Given the description of an element on the screen output the (x, y) to click on. 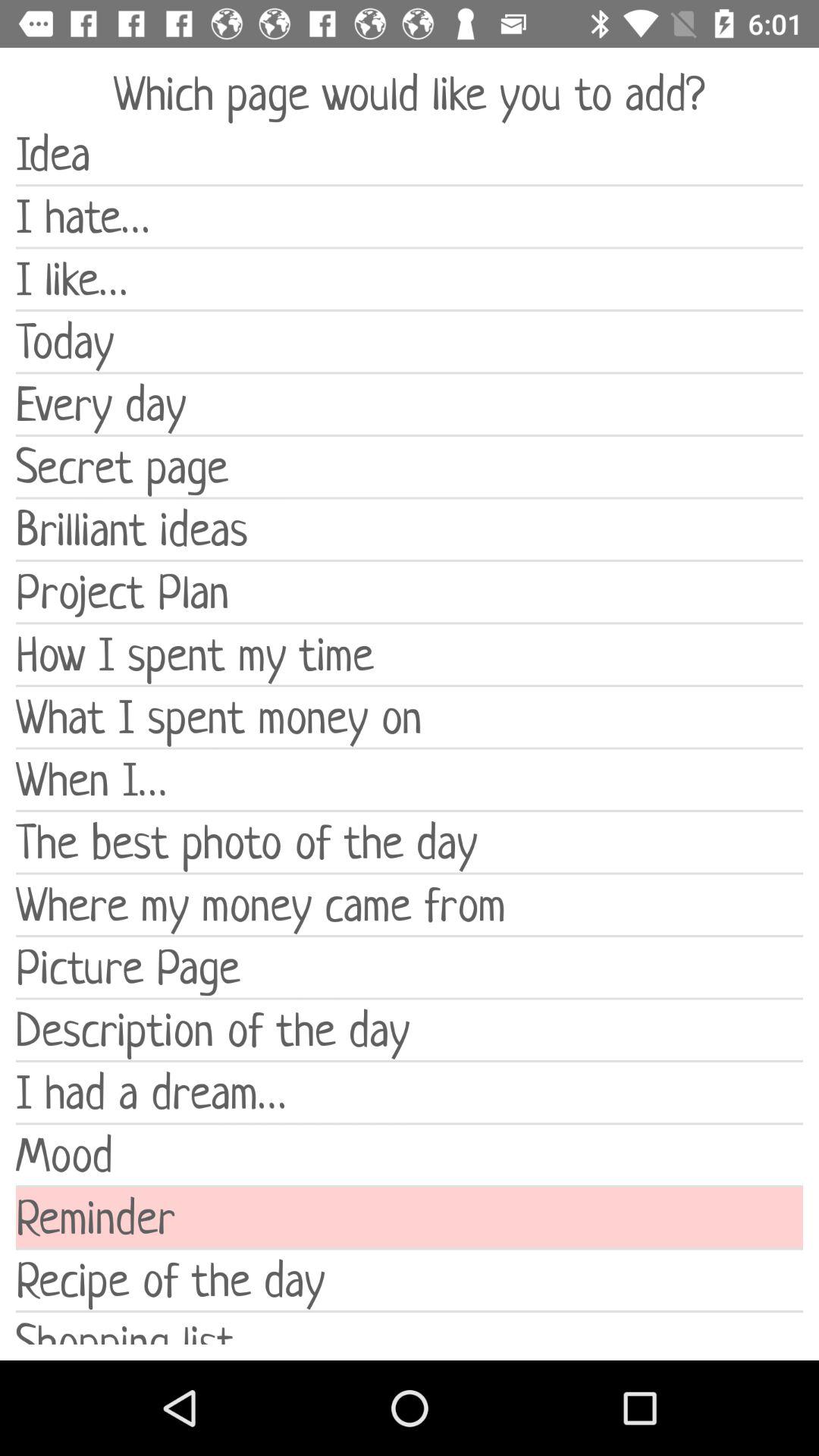
swipe to the idea (409, 153)
